Given the description of an element on the screen output the (x, y) to click on. 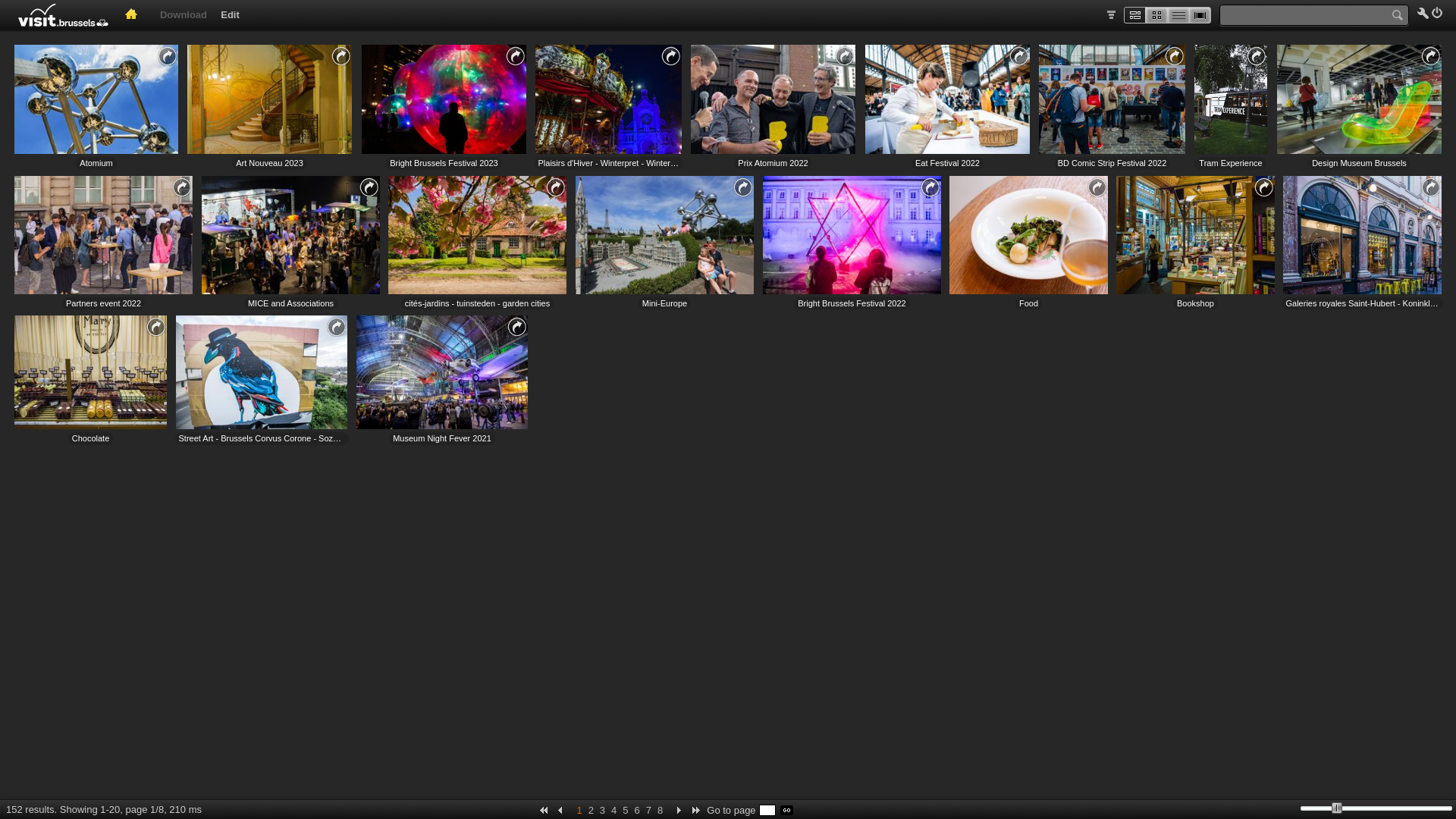
Show content Element type: hover (1255, 55)
Show content Element type: hover (514, 55)
Show content Element type: hover (742, 187)
next Element type: hover (676, 810)
Home Element type: hover (132, 17)
Show content Element type: hover (516, 326)
previous 10 Element type: hover (541, 810)
Show content Element type: hover (1096, 187)
Show content Element type: hover (1430, 55)
Show content Element type: hover (166, 55)
8 Element type: text (659, 808)
7 Element type: text (648, 808)
Squared mosaic view Element type: hover (1156, 17)
Coverflow view Element type: hover (1200, 17)
Go Element type: hover (786, 809)
previous Element type: hover (562, 810)
4 Element type: text (613, 808)
3 Element type: text (602, 808)
6 Element type: text (637, 808)
next 10 Element type: hover (695, 810)
5 Element type: text (625, 808)
Show content Element type: hover (843, 55)
Show content Element type: hover (340, 55)
Show content Element type: hover (368, 187)
1 Element type: text (578, 808)
2 Element type: text (590, 808)
Show content Element type: hover (155, 326)
Mosaic view Element type: hover (1134, 17)
Show content Element type: hover (1018, 55)
Show content Element type: hover (1430, 187)
Show content Element type: hover (181, 187)
Show content Element type: hover (1263, 187)
Download Element type: text (183, 14)
Show content Element type: hover (670, 55)
Edit Element type: text (229, 14)
List view Element type: hover (1178, 17)
Show content Element type: hover (1173, 55)
Show content Element type: hover (555, 187)
Show content Element type: hover (335, 326)
Show content Element type: hover (929, 187)
